Given the description of an element on the screen output the (x, y) to click on. 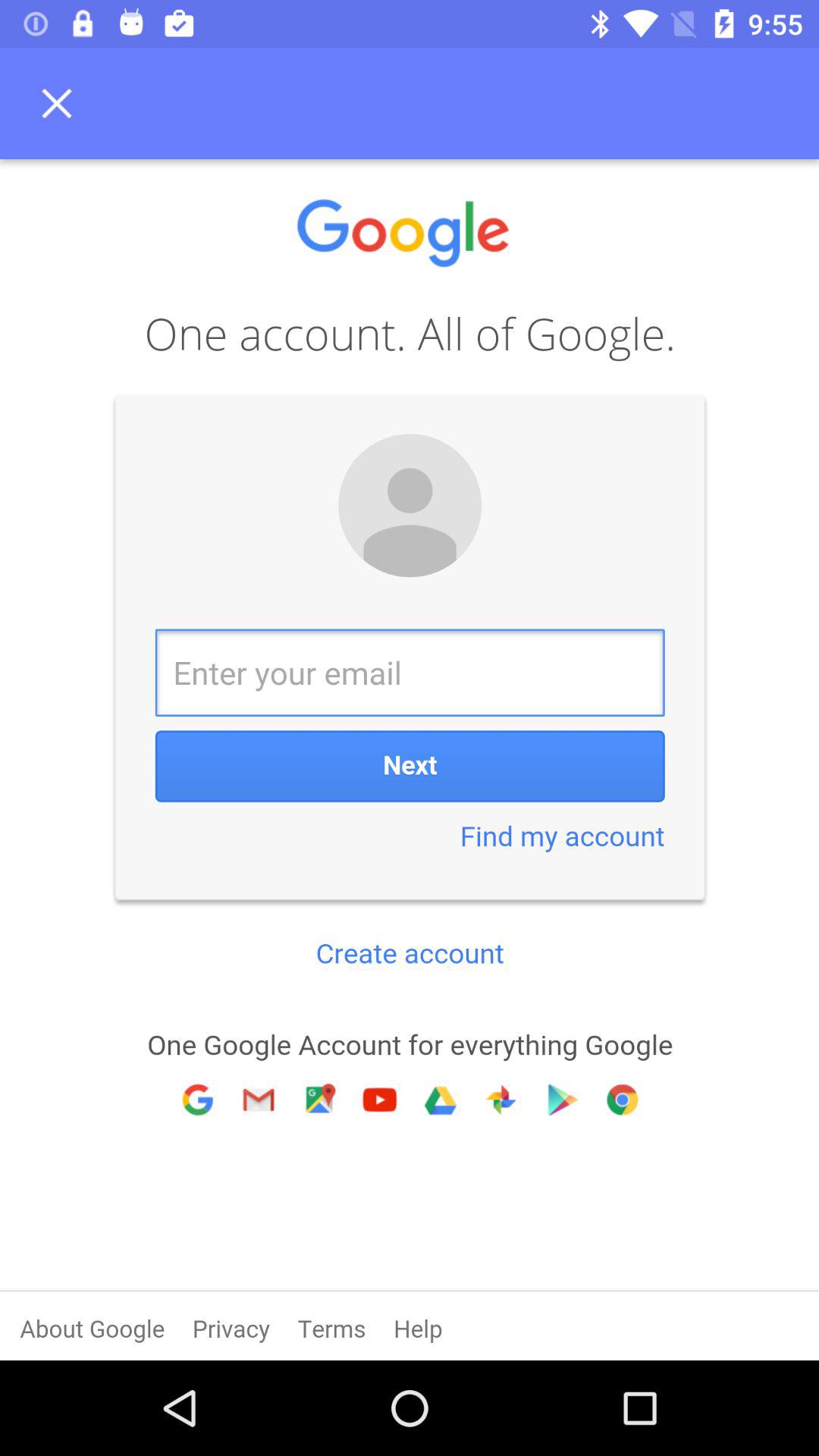
no (61, 103)
